Given the description of an element on the screen output the (x, y) to click on. 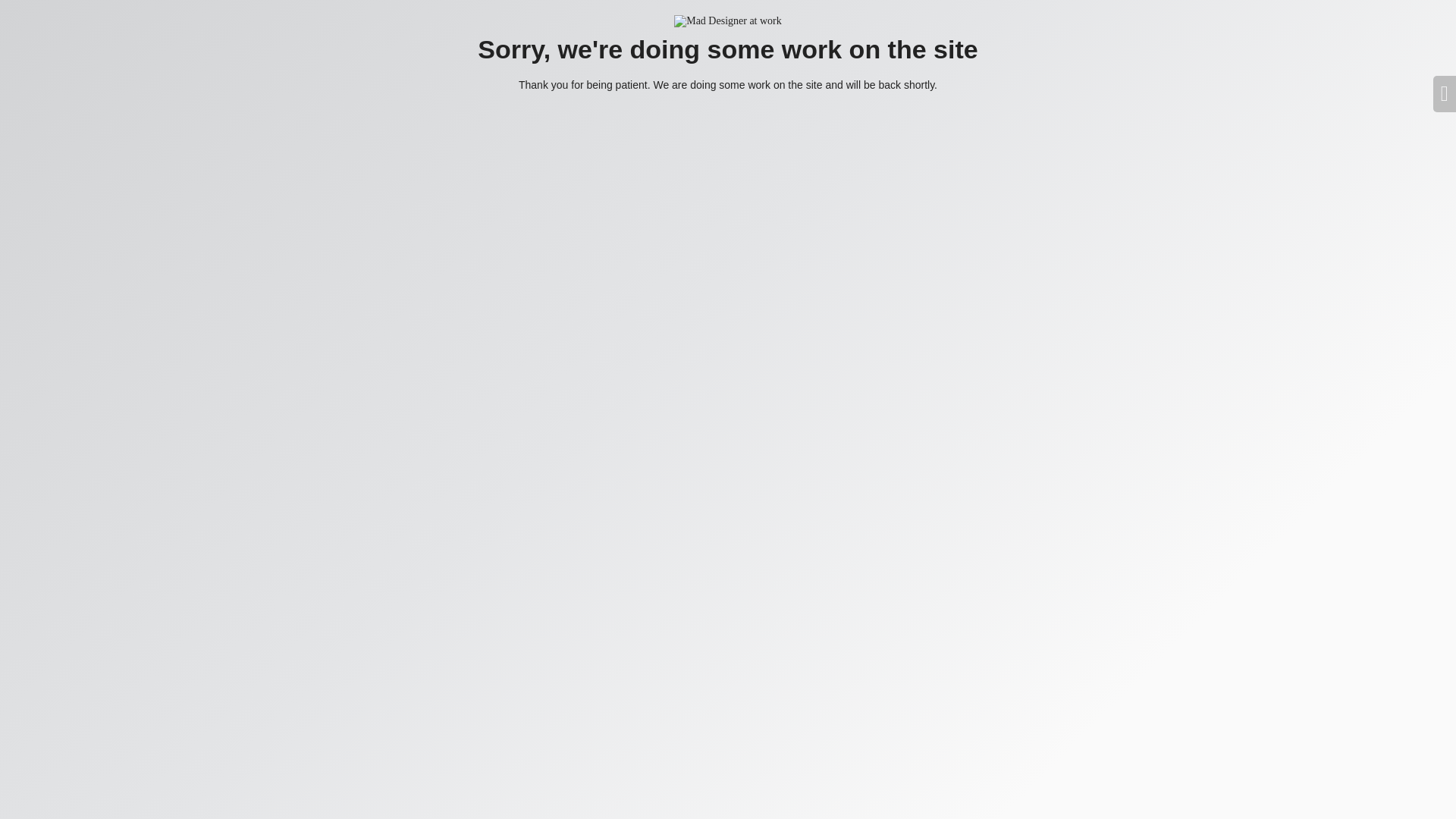
Mad Designer at work (727, 21)
